Given the description of an element on the screen output the (x, y) to click on. 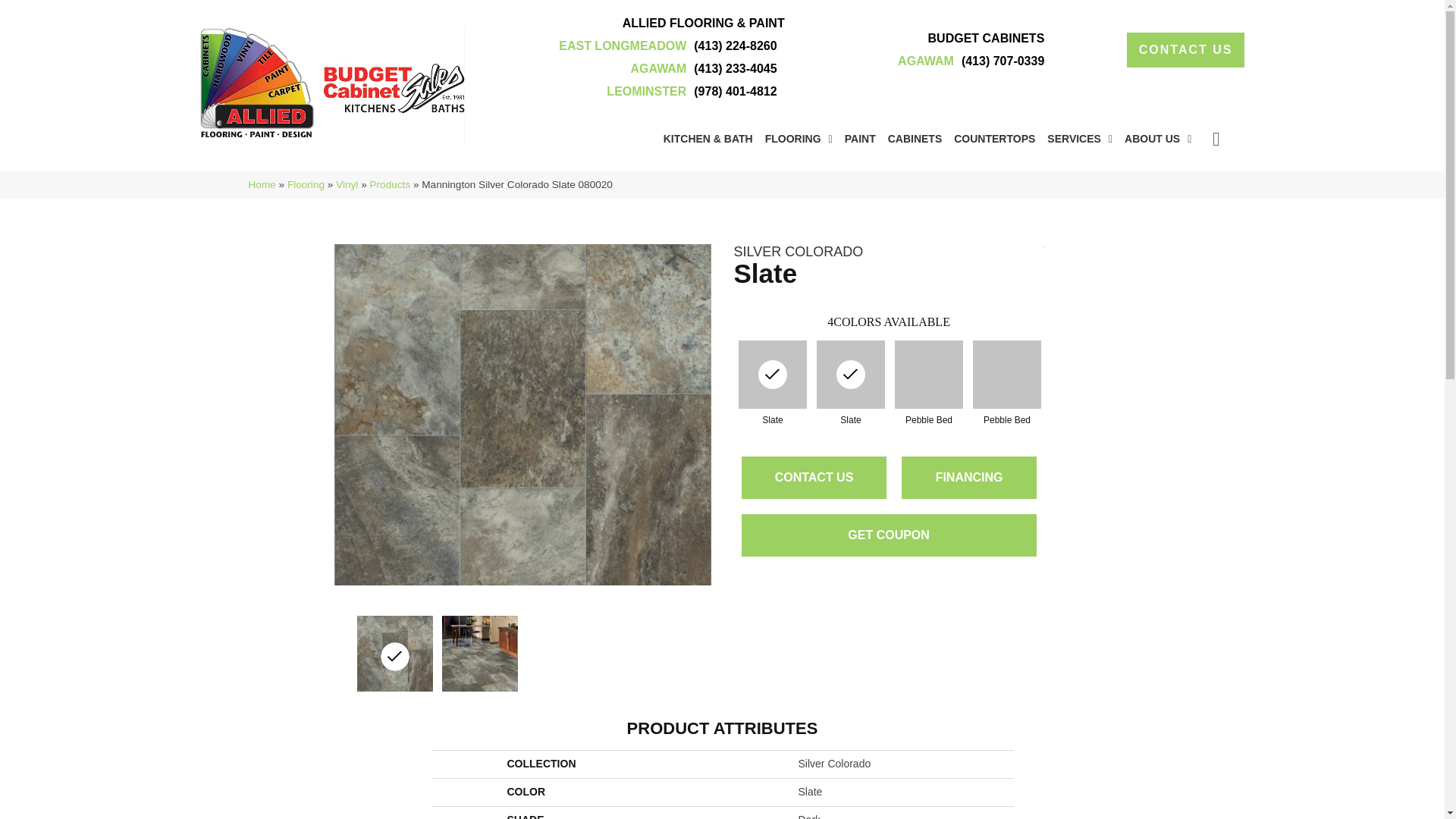
Mannington Silver Colorado Slate 080020 (480, 653)
Mannington Silver Colorado Slate 080020 (850, 374)
CONTACT US (1185, 49)
Mannington Silver Colorado Slate 080020 (394, 653)
Mannington Silver Colorado Slate 80020 (772, 374)
Mannington Silver Colorado Pebble Bed 80021 (928, 374)
FLOORING (798, 138)
Mannington Silver Colorado Pebble Bed 080021 (1007, 374)
alliedflooringandpaint (332, 85)
